Given the description of an element on the screen output the (x, y) to click on. 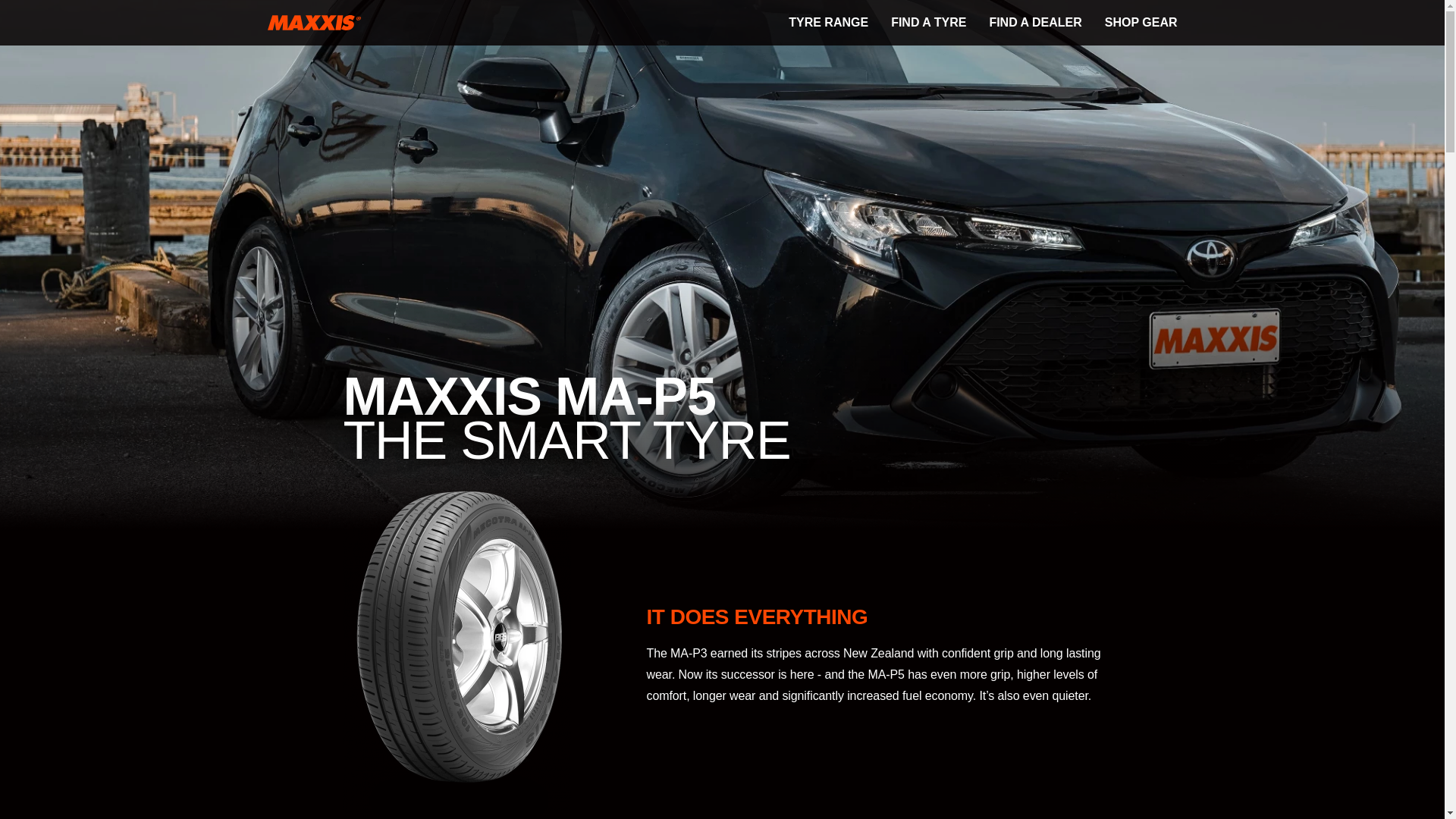
TYRE RANGE (828, 21)
FIND A TYRE (928, 21)
FIND A DEALER (1034, 21)
SHOP GEAR (1141, 21)
